Given the description of an element on the screen output the (x, y) to click on. 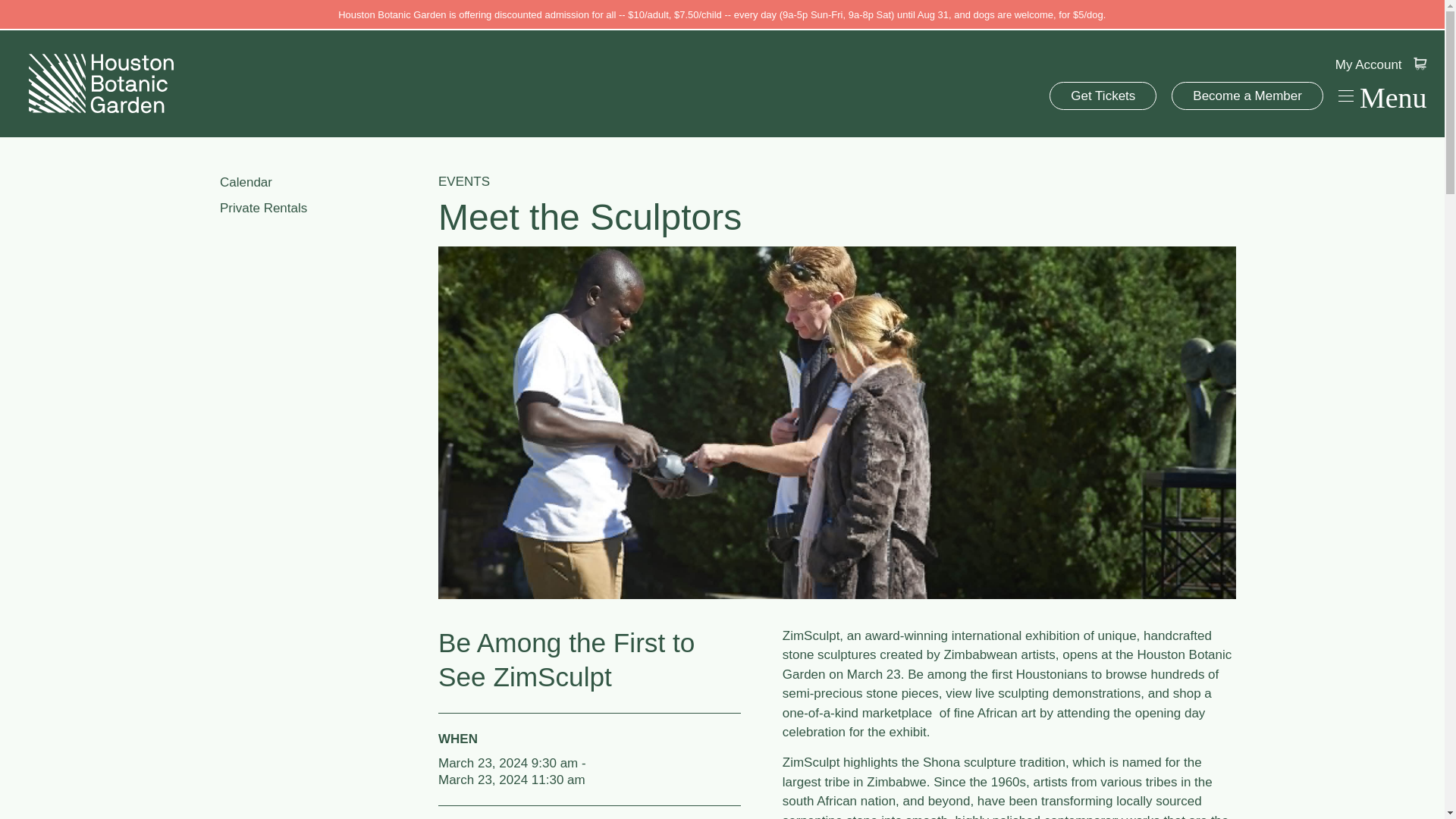
Get Tickets (1102, 95)
Calendar (321, 182)
View Cart (1419, 64)
Private Rentals (321, 208)
My Account (1368, 64)
Become a Member (1247, 95)
